Given the description of an element on the screen output the (x, y) to click on. 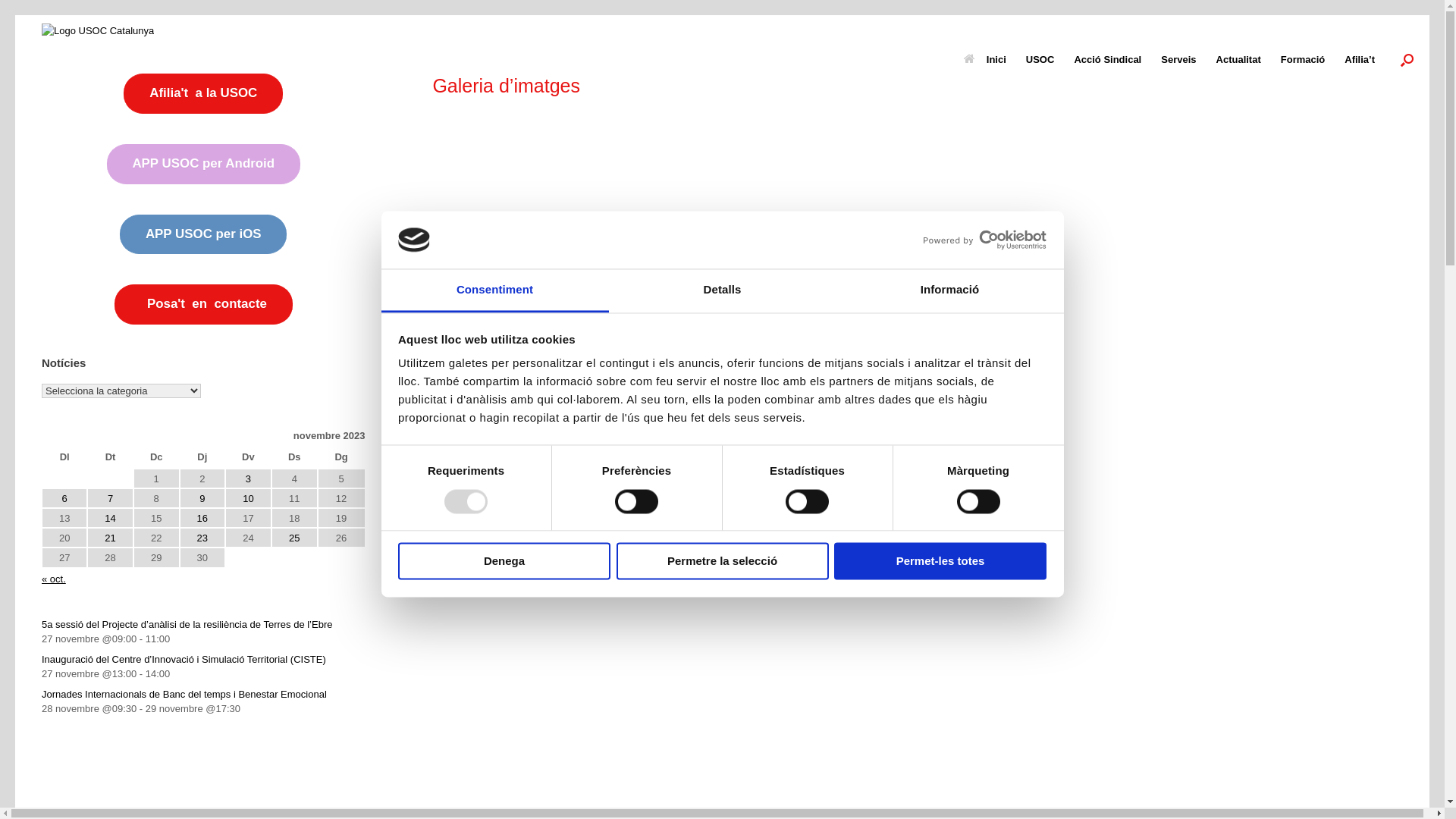
21 Element type: text (110, 538)
USOC Element type: text (1040, 59)
Detalls Element type: text (721, 291)
  Posa't  en  contacte Element type: text (203, 304)
6 Element type: text (64, 498)
Permet-les totes Element type: text (940, 561)
9 Element type: text (202, 498)
3 Element type: text (248, 478)
Serveis Element type: text (1178, 59)
16 Element type: text (202, 518)
14 Element type: text (110, 518)
7 Element type: text (110, 498)
Inici Element type: text (984, 59)
23 Element type: text (202, 538)
25 Element type: text (294, 538)
APP USOC per iOS Element type: text (202, 234)
Actualitat Element type: text (1238, 59)
APP USOC per Android Element type: text (203, 164)
Afilia't  a la USOC Element type: text (202, 93)
10 Element type: text (248, 498)
Consentiment Element type: text (494, 291)
Denega Element type: text (504, 561)
